Given the description of an element on the screen output the (x, y) to click on. 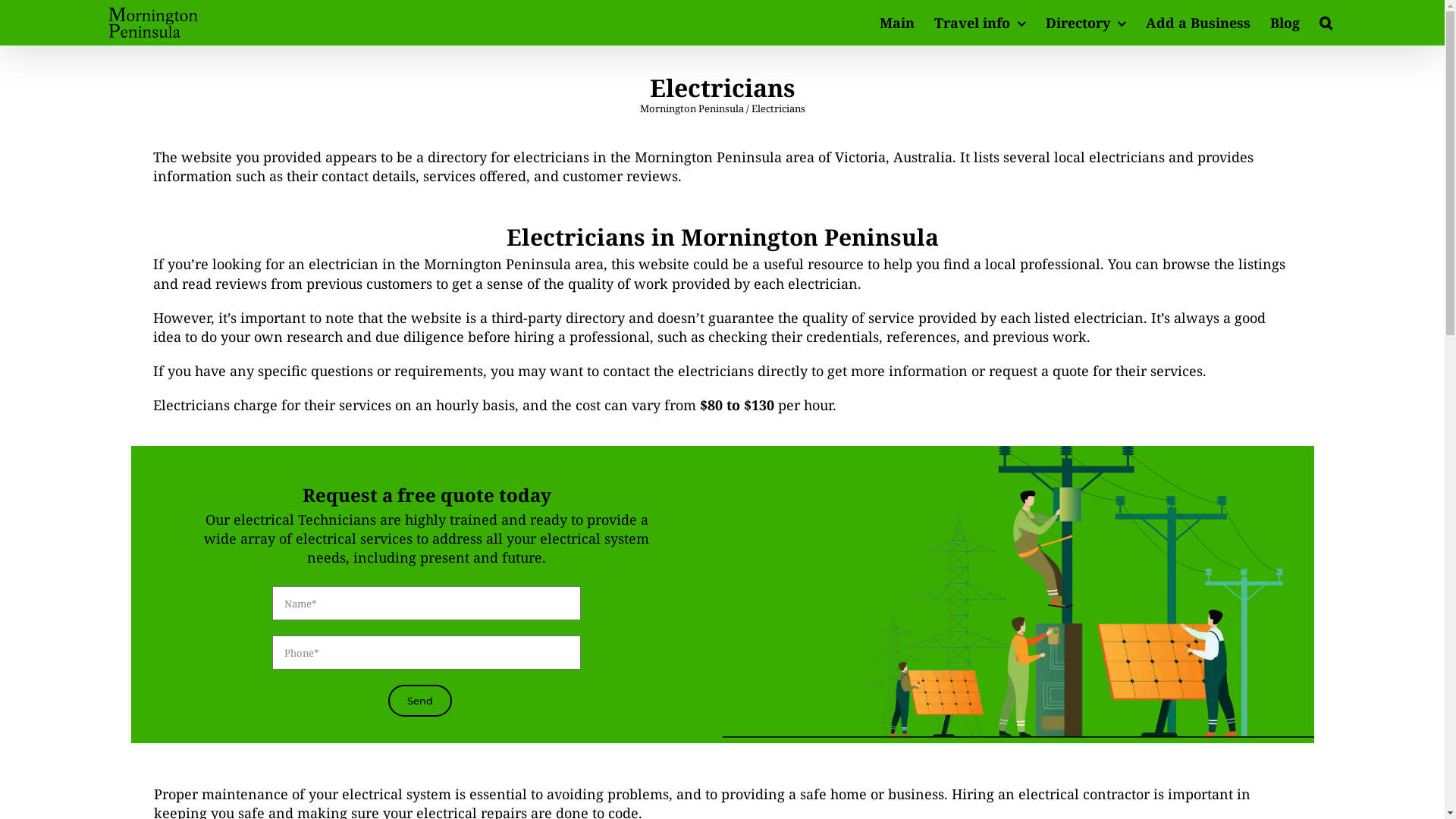
Add a Business Element type: text (1197, 22)
Travel info Element type: text (980, 22)
Mornington Peninsula Element type: text (691, 108)
Blog Element type: text (1284, 22)
Search Element type: hover (1325, 22)
Send Element type: text (419, 700)
Directory Element type: text (1085, 22)
Main Element type: text (896, 22)
